Given the description of an element on the screen output the (x, y) to click on. 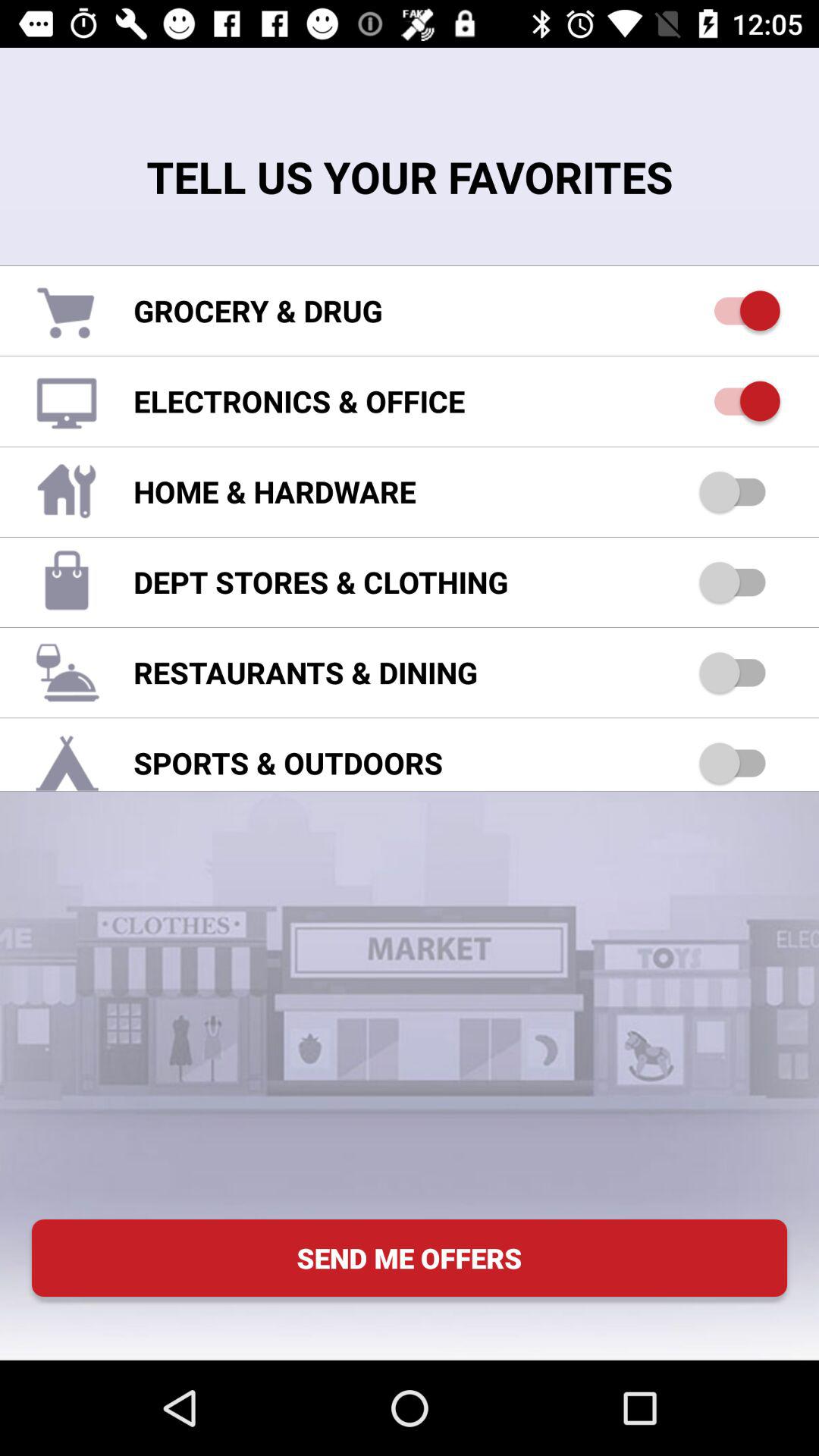
toggle grocery and drug (739, 310)
